Given the description of an element on the screen output the (x, y) to click on. 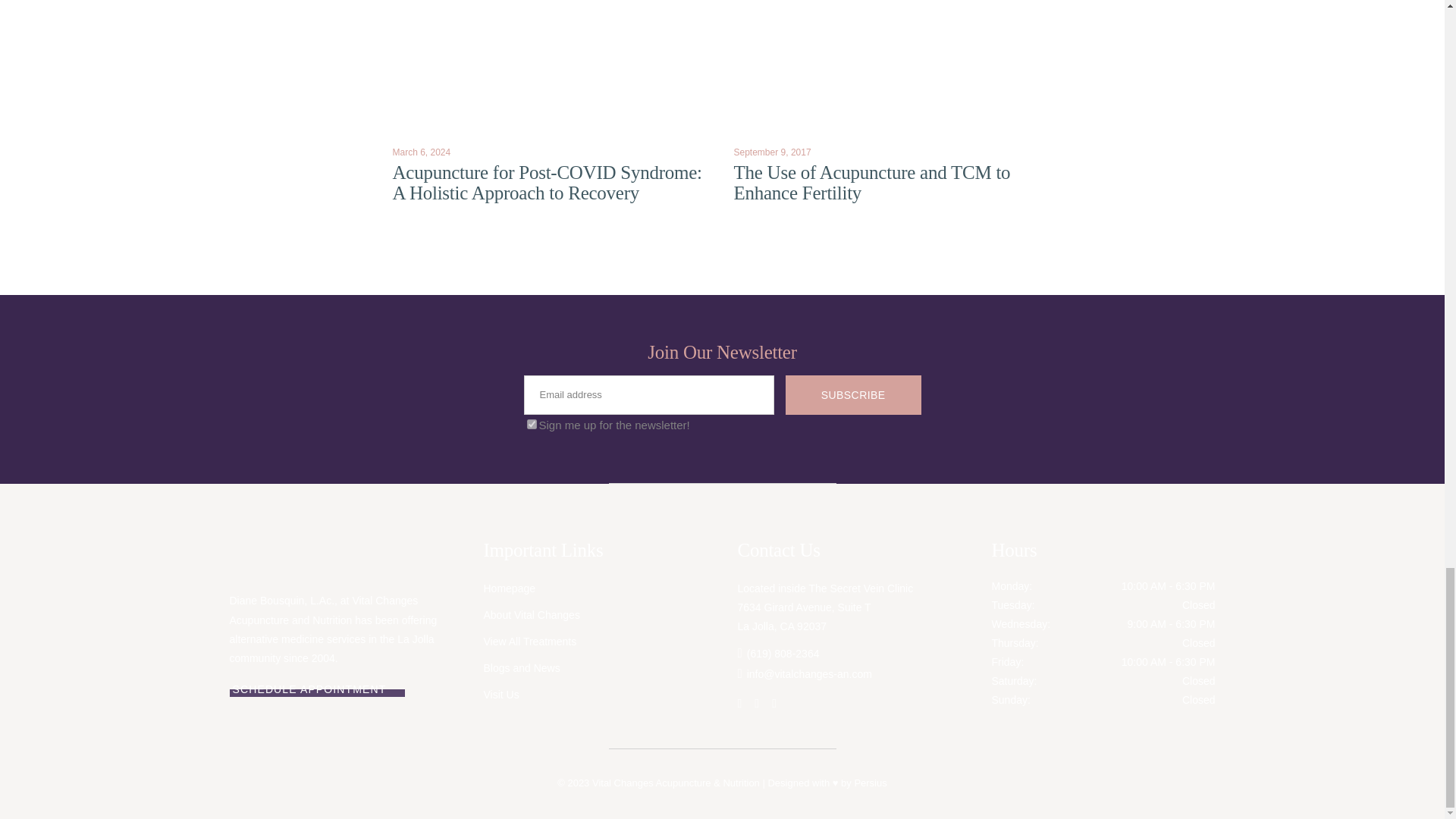
1 (530, 424)
